Given the description of an element on the screen output the (x, y) to click on. 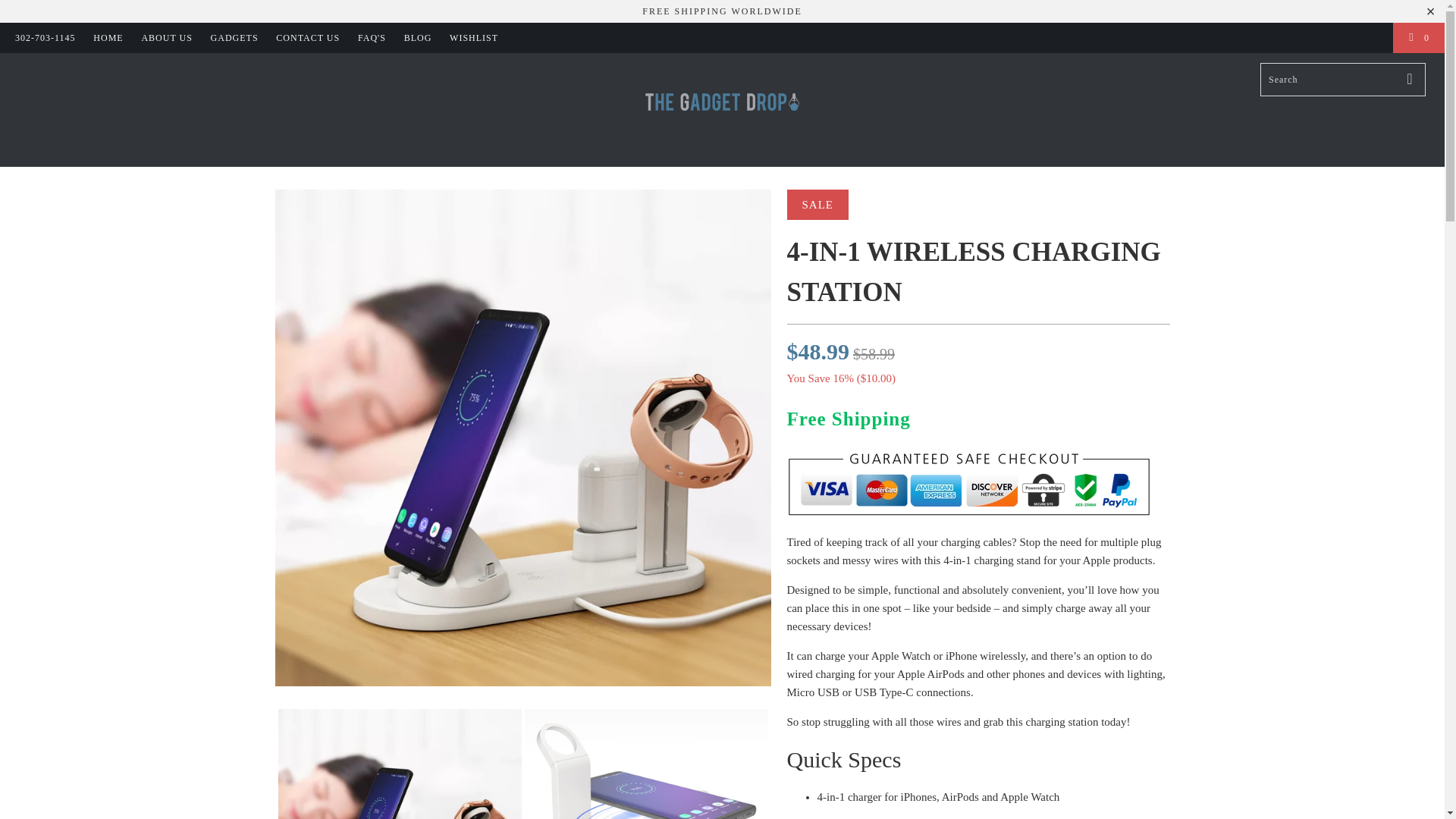
BLOG (418, 37)
TheGadgetDrop (722, 110)
FAQ'S (371, 37)
GADGETS (235, 37)
CONTACT US (307, 37)
WISHLIST (473, 37)
302-703-1145 (44, 37)
HOME (107, 37)
ABOUT US (166, 37)
